Given the description of an element on the screen output the (x, y) to click on. 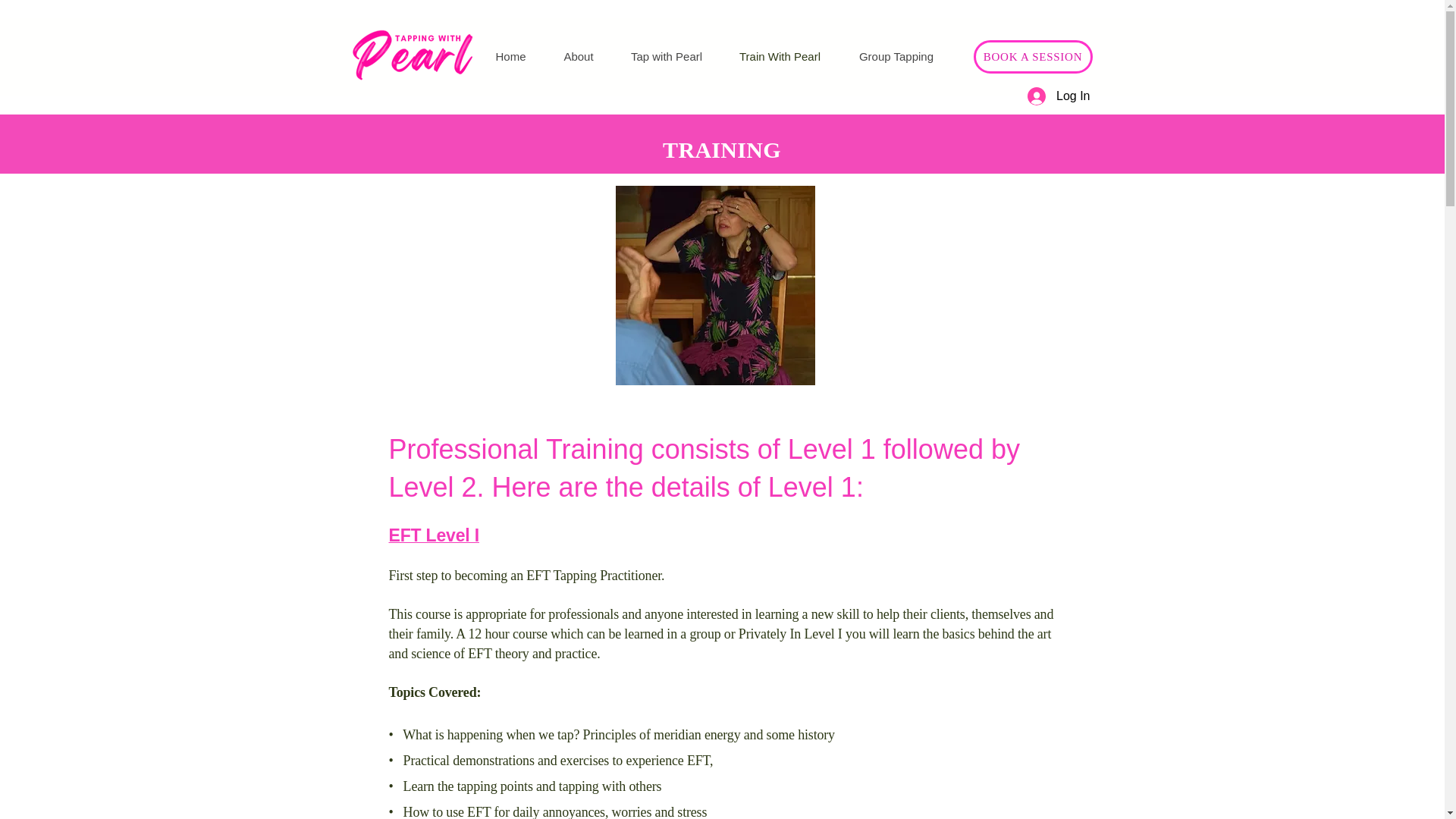
Log In (1058, 95)
Home (510, 56)
Train With Pearl (779, 56)
Tap with Pearl (666, 56)
BOOK A SESSION (1033, 56)
